Given the description of an element on the screen output the (x, y) to click on. 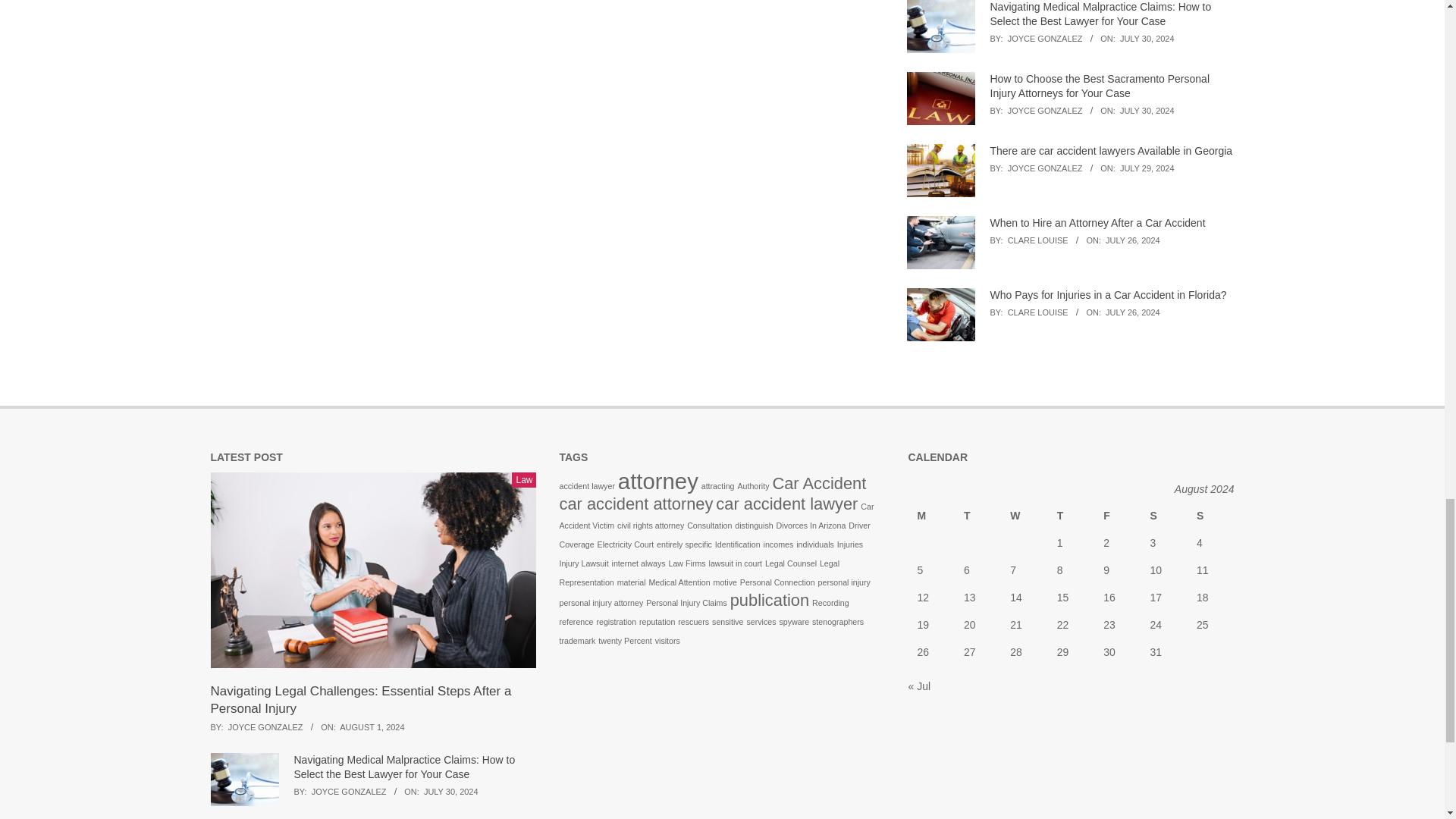
Friday, July 26, 2024, 11:19 am (1132, 239)
Posts by Joyce Gonzalez (1045, 110)
Tuesday, July 30, 2024, 4:34 pm (1146, 38)
Monday, July 29, 2024, 10:33 am (1146, 167)
Posts by Clare Louise (1037, 239)
Posts by Joyce Gonzalez (1045, 167)
Tuesday, July 30, 2024, 5:39 am (1146, 110)
Posts by Joyce Gonzalez (1045, 38)
Friday, July 26, 2024, 11:19 am (1132, 311)
Posts by Clare Louise (1037, 311)
